Given the description of an element on the screen output the (x, y) to click on. 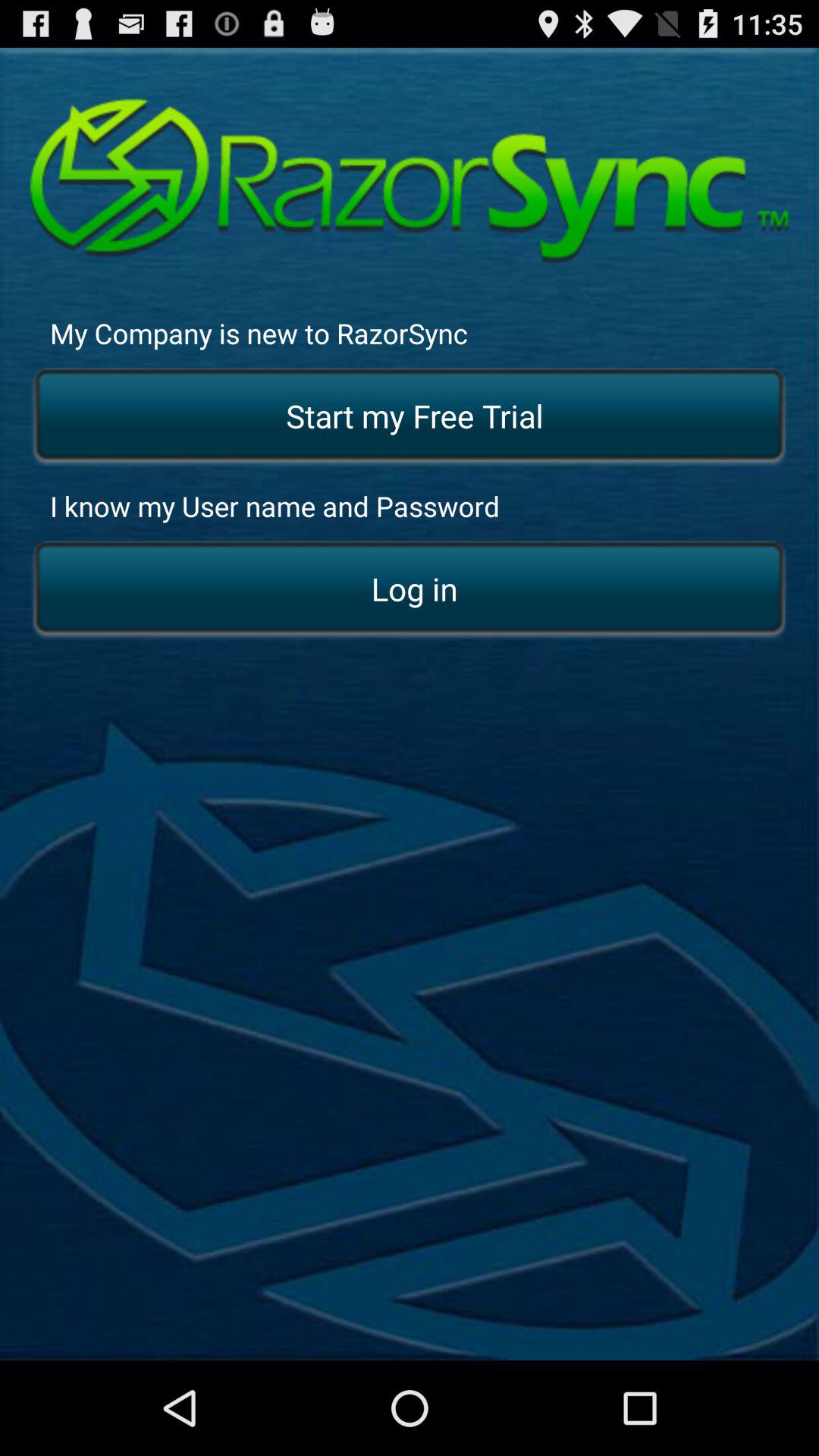
press the item above the i know my item (409, 417)
